Given the description of an element on the screen output the (x, y) to click on. 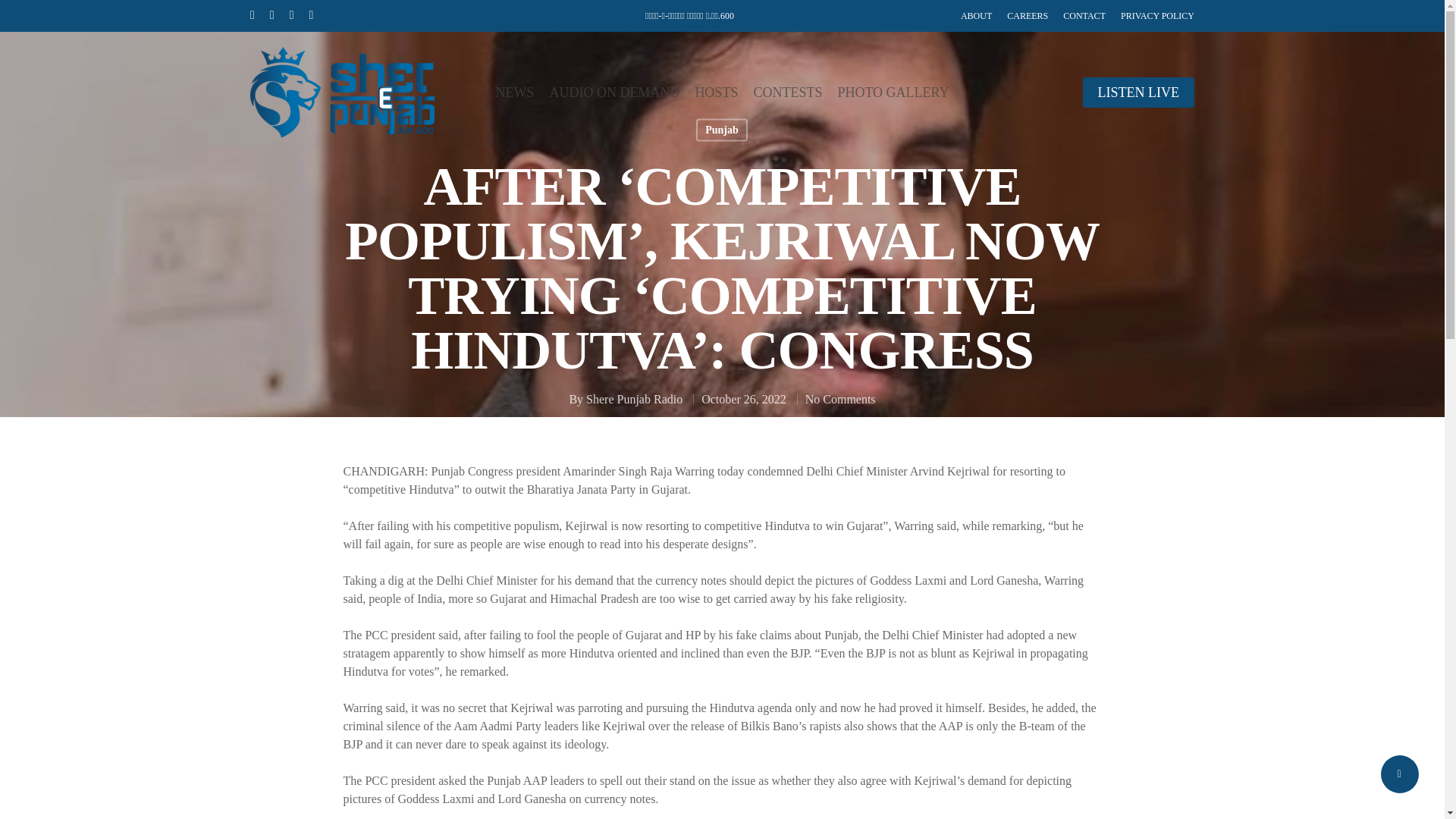
LISTEN LIVE (1138, 92)
ABOUT (975, 15)
NEWS (514, 92)
CONTESTS (787, 92)
AUDIO ON DEMAND (613, 92)
HOSTS (716, 92)
Posts by Shere Punjab Radio (634, 399)
Punjab (721, 128)
PHOTO GALLERY (893, 92)
CAREERS (1027, 15)
PRIVACY POLICY (1157, 15)
CONTACT (1083, 15)
Shere Punjab Radio (634, 399)
No Comments (840, 399)
